Given the description of an element on the screen output the (x, y) to click on. 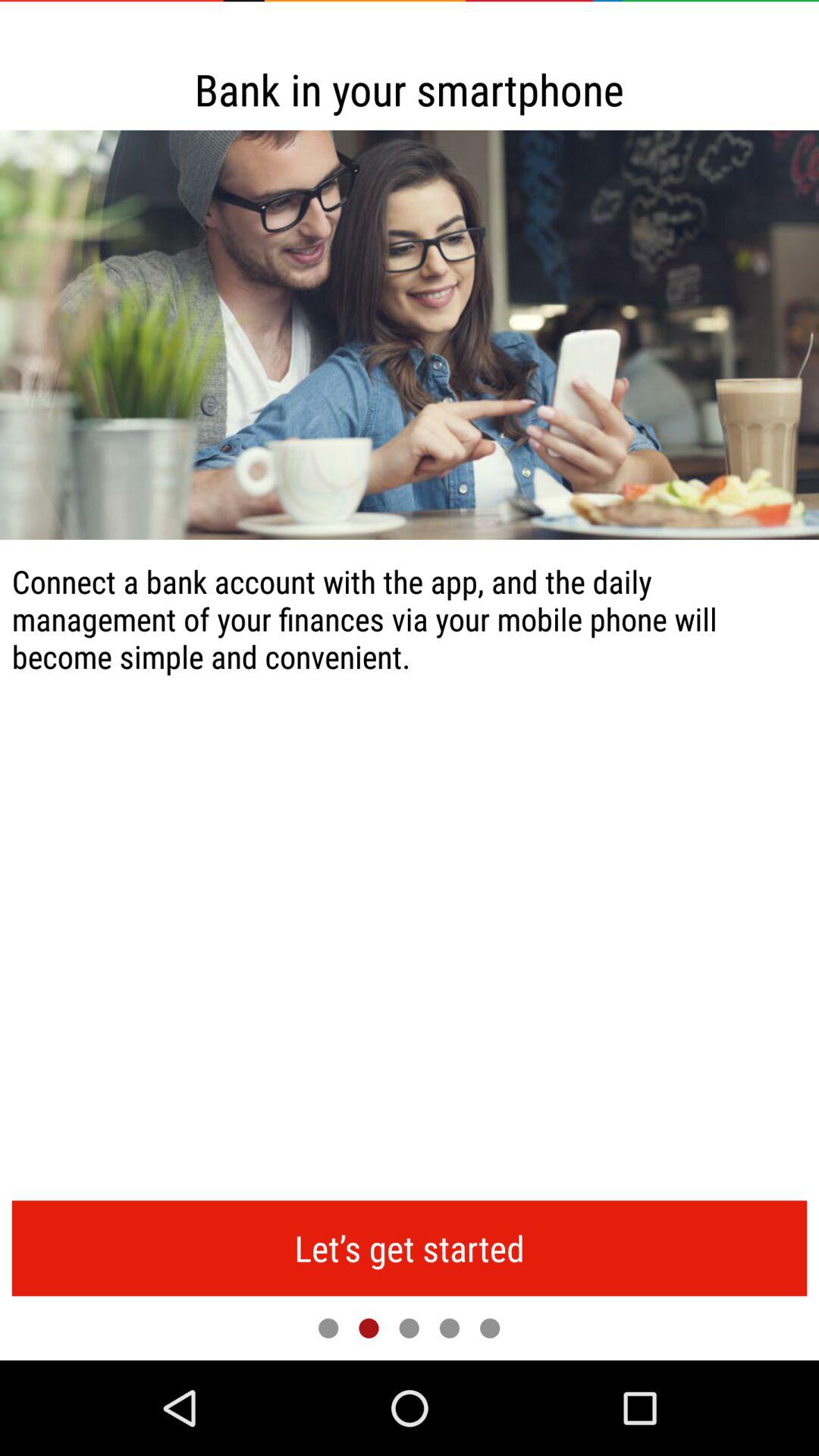
next page (409, 1328)
